Given the description of an element on the screen output the (x, y) to click on. 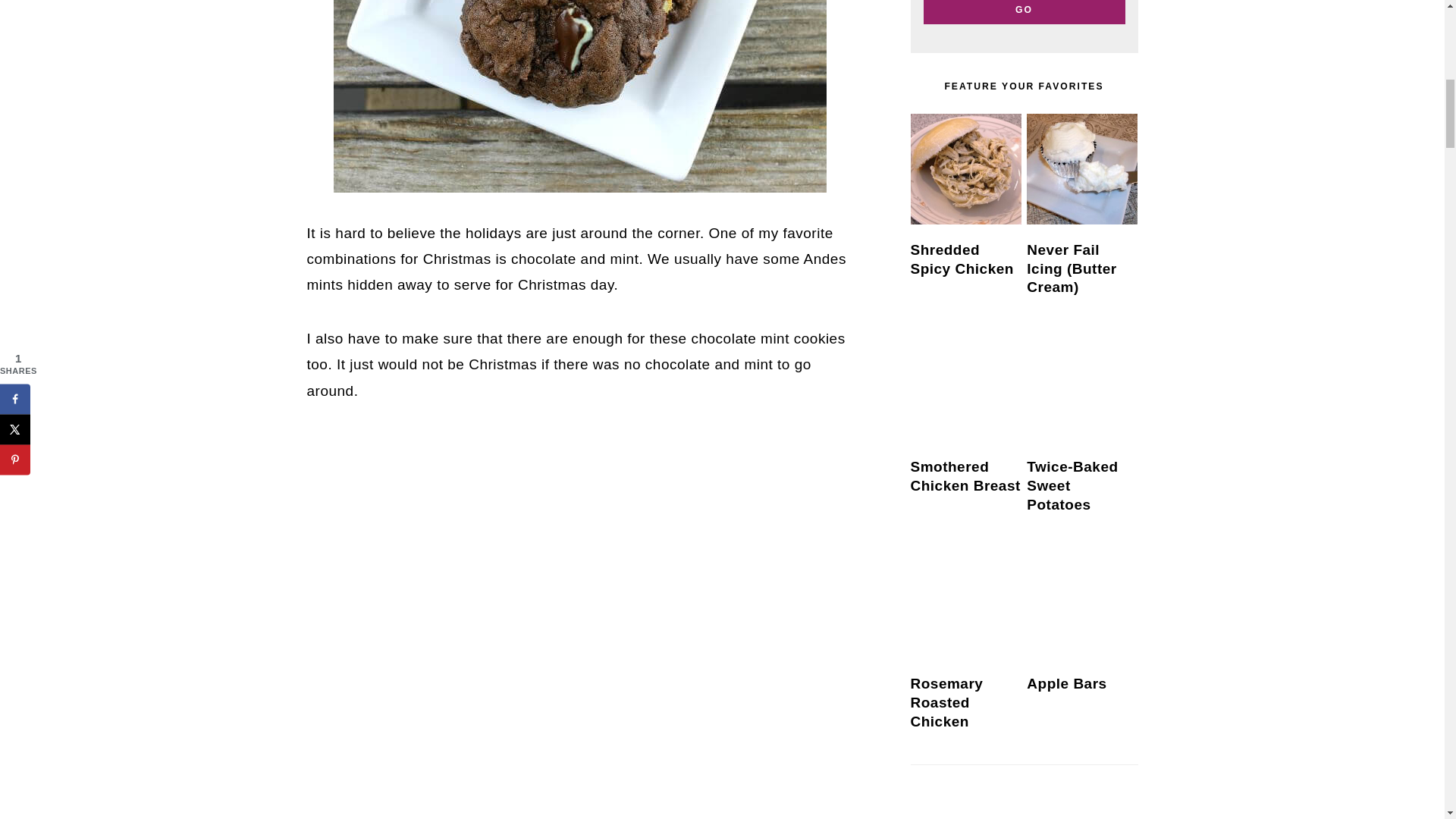
Rosemary Roasted Chicken (965, 602)
Go (1024, 12)
Twice-Baked Sweet Potatoes (1081, 385)
Shredded Spicy Chicken (965, 168)
Smothered Chicken Breast (965, 385)
Apple Bars (1081, 602)
